Given the description of an element on the screen output the (x, y) to click on. 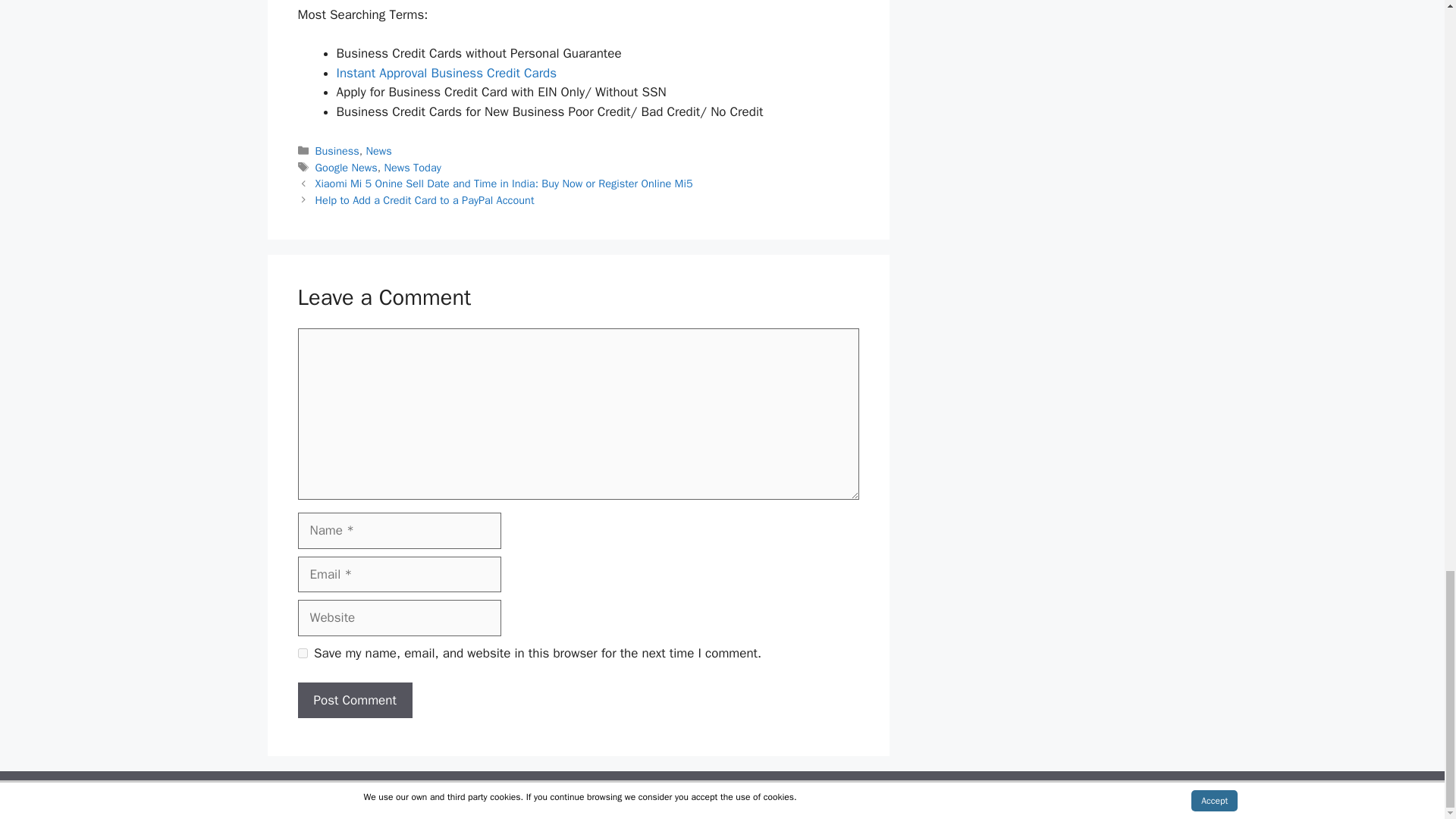
Help to Add a Credit Card to a PayPal Account (424, 200)
News (378, 151)
Business (337, 151)
Google News (346, 167)
Post Comment (354, 700)
Post Comment (354, 700)
yes (302, 653)
News Today (412, 167)
Instant Approval Business Credit Cards (446, 73)
